Given the description of an element on the screen output the (x, y) to click on. 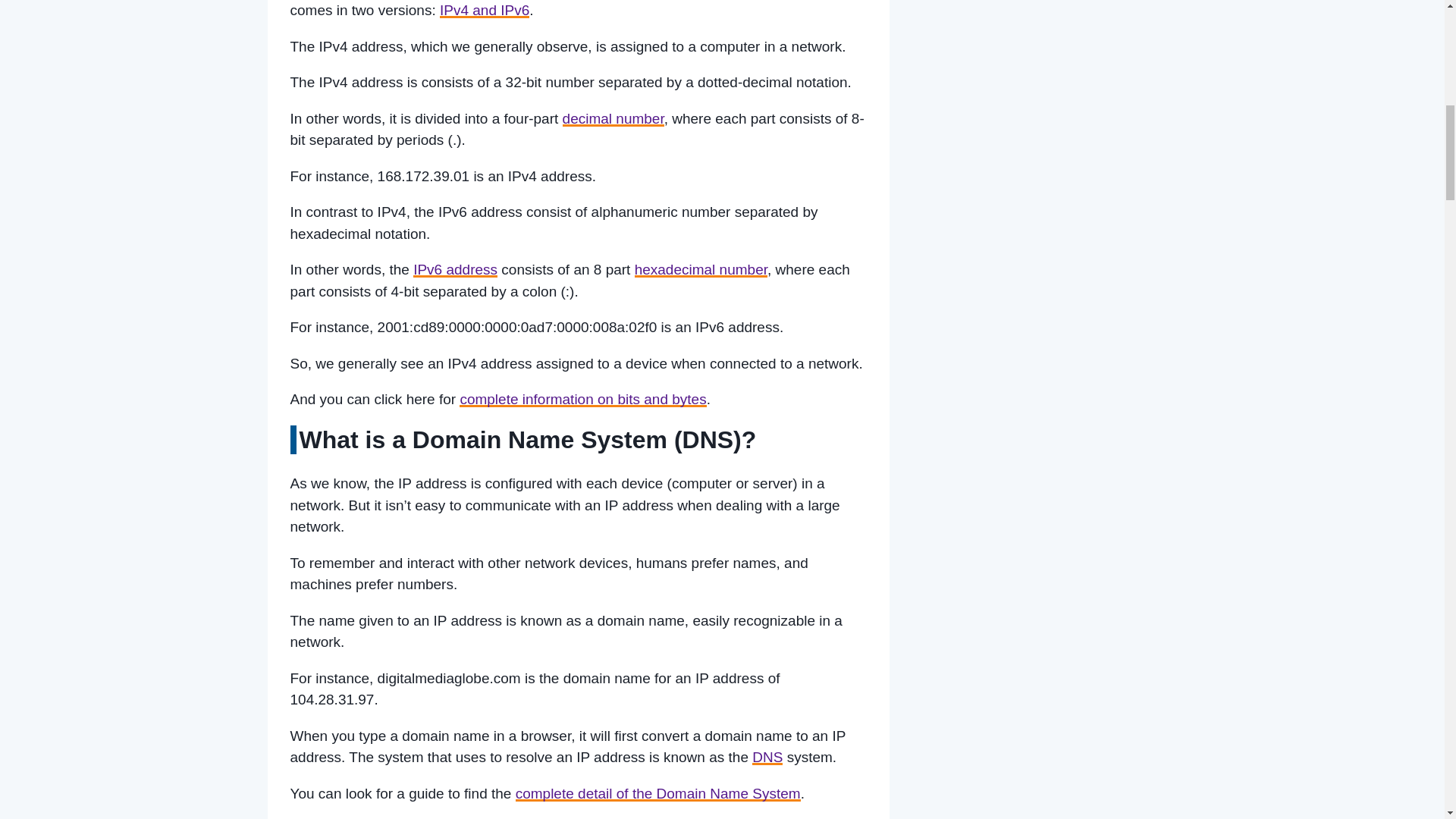
complete information on bits and bytes (583, 399)
decimal number (612, 118)
complete detail of the Domain Name System (657, 793)
hexadecimal number (700, 269)
IPv4 and IPv6 (484, 10)
IPv6 address (455, 269)
DNS (767, 756)
